Given the description of an element on the screen output the (x, y) to click on. 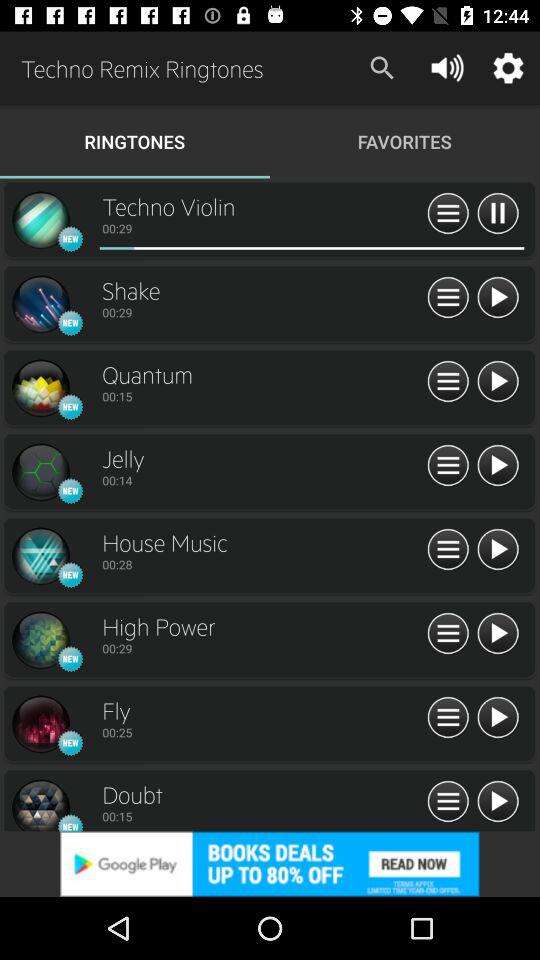
play 'fly ringtone (497, 717)
